Given the description of an element on the screen output the (x, y) to click on. 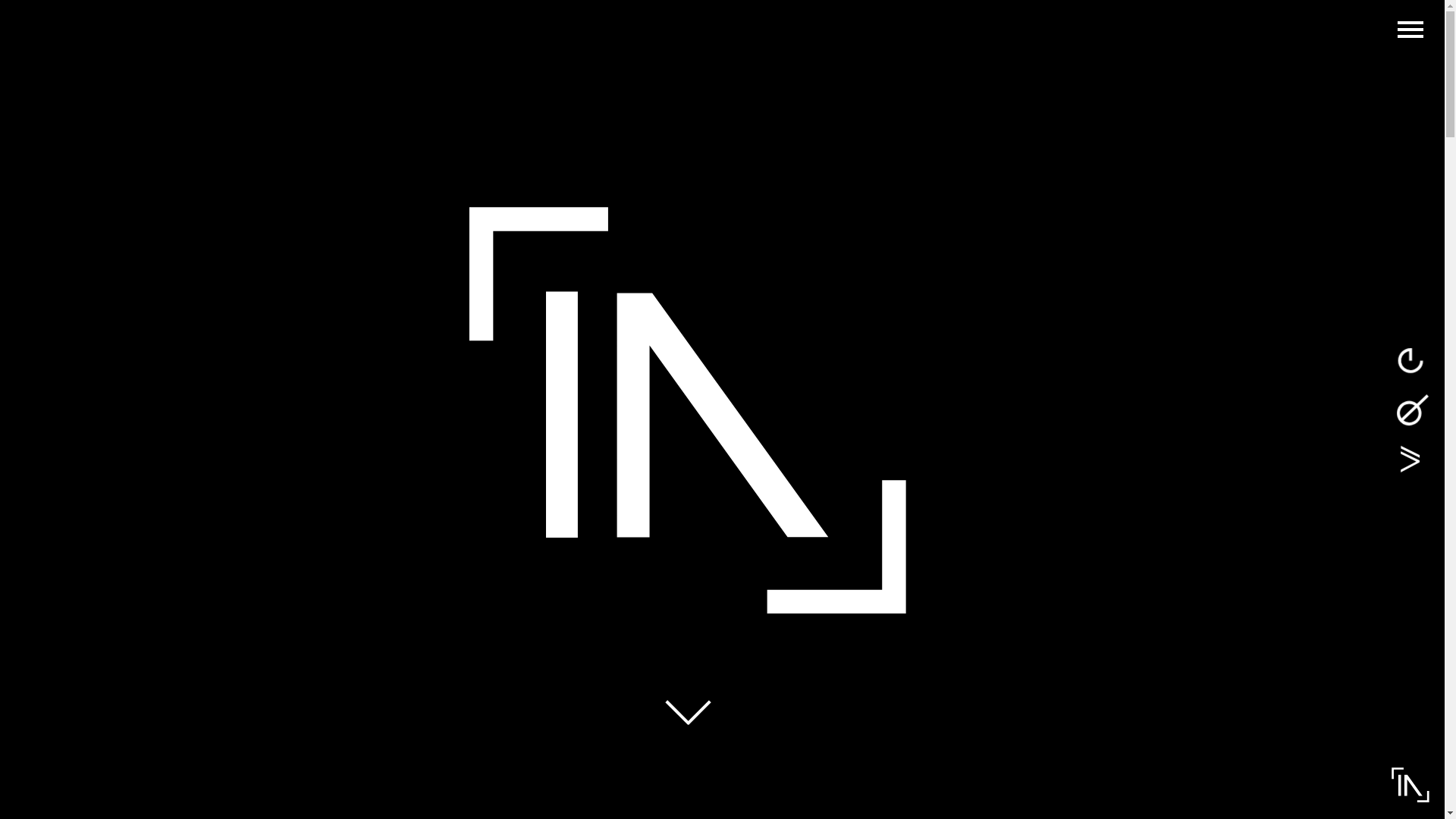
Inceptive Element type: text (1410, 784)
